Given the description of an element on the screen output the (x, y) to click on. 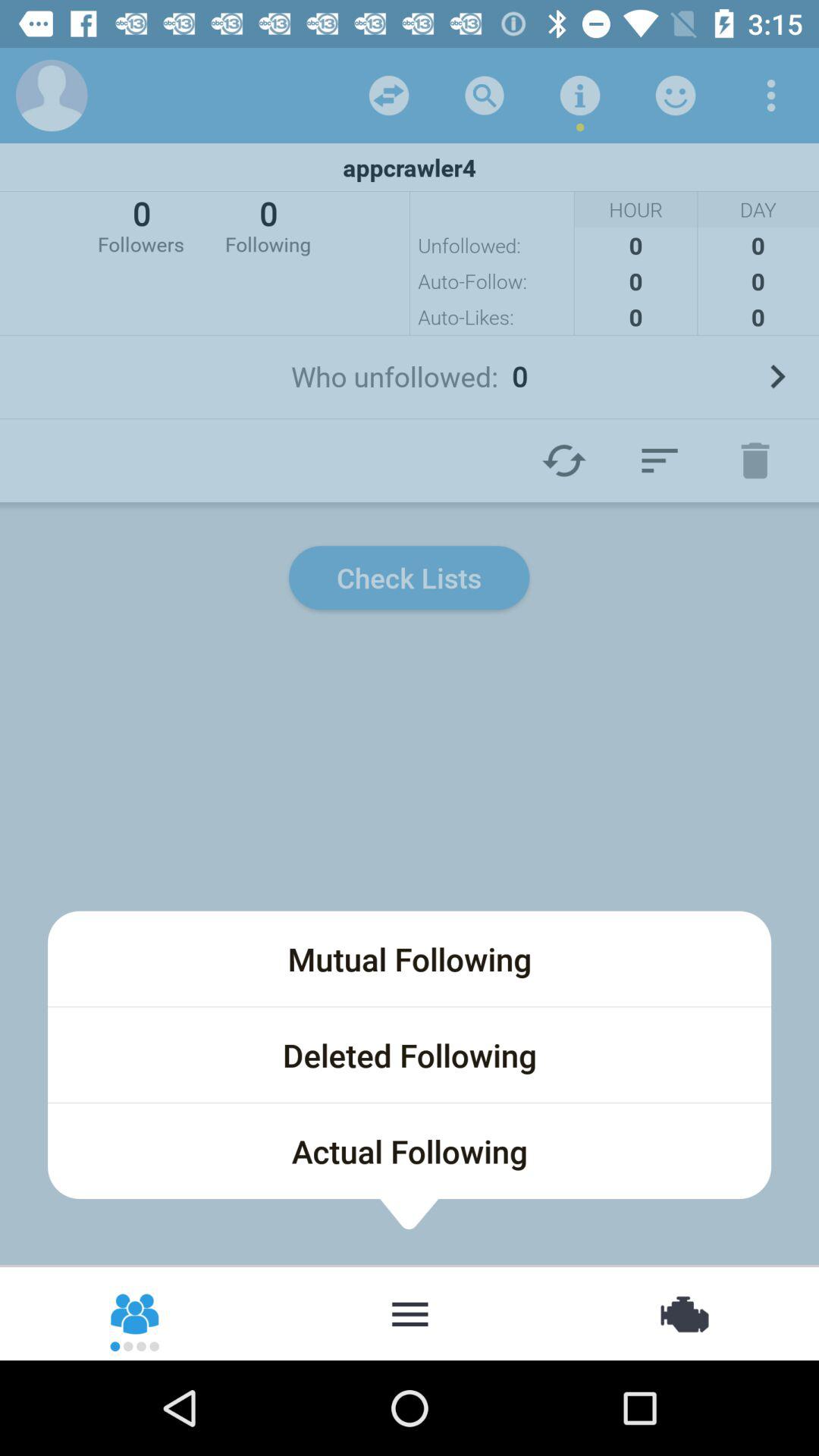
toggle menu (771, 95)
